Given the description of an element on the screen output the (x, y) to click on. 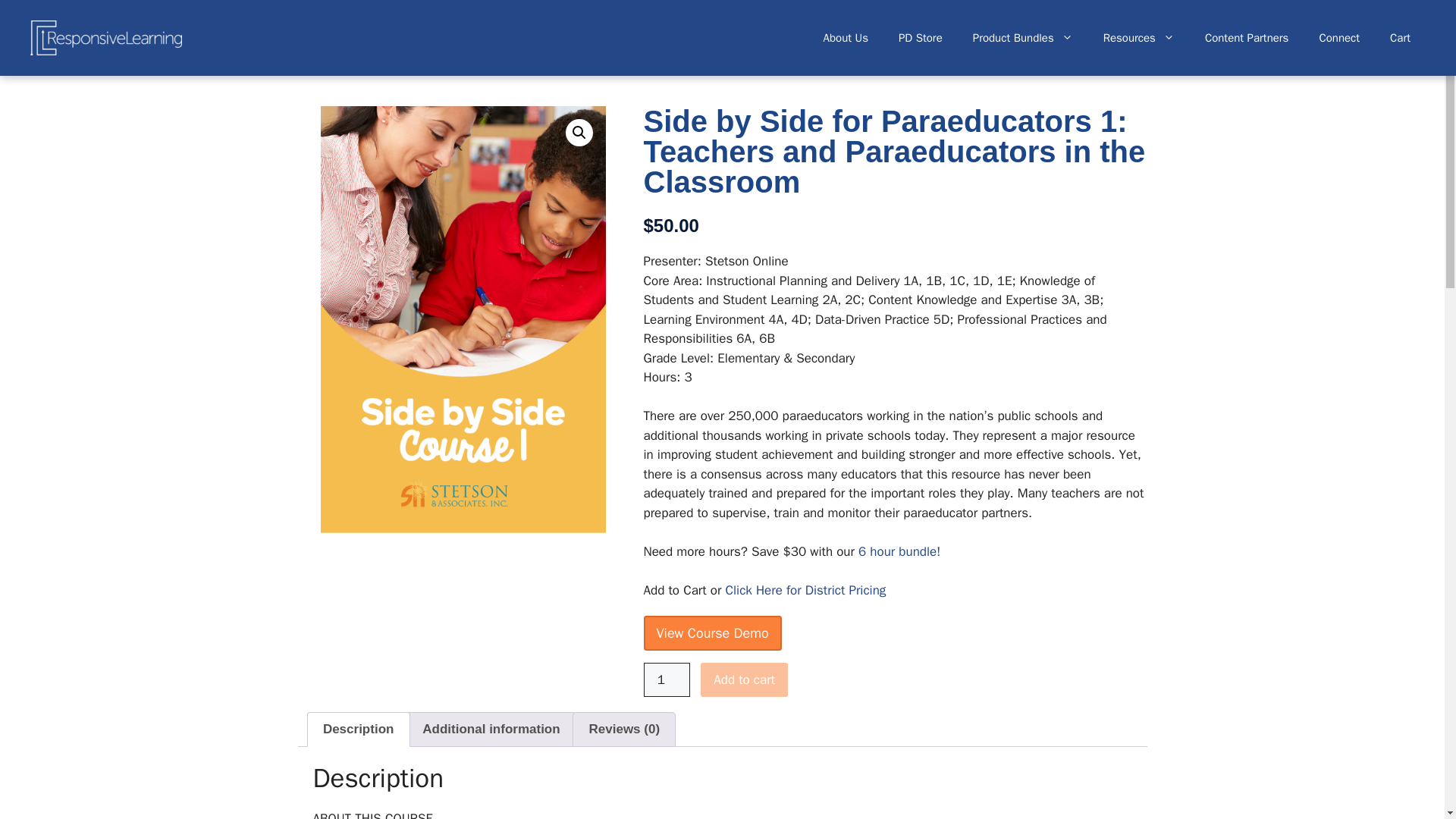
Click Here for District Pricing (805, 590)
Resources (1138, 37)
Product Bundles (1022, 37)
About Us (845, 37)
Cart (1399, 37)
View Course Demo (711, 632)
Content Partners (1246, 37)
Add to cart (743, 679)
Connect (1338, 37)
6 hour bundle! (899, 550)
